Given the description of an element on the screen output the (x, y) to click on. 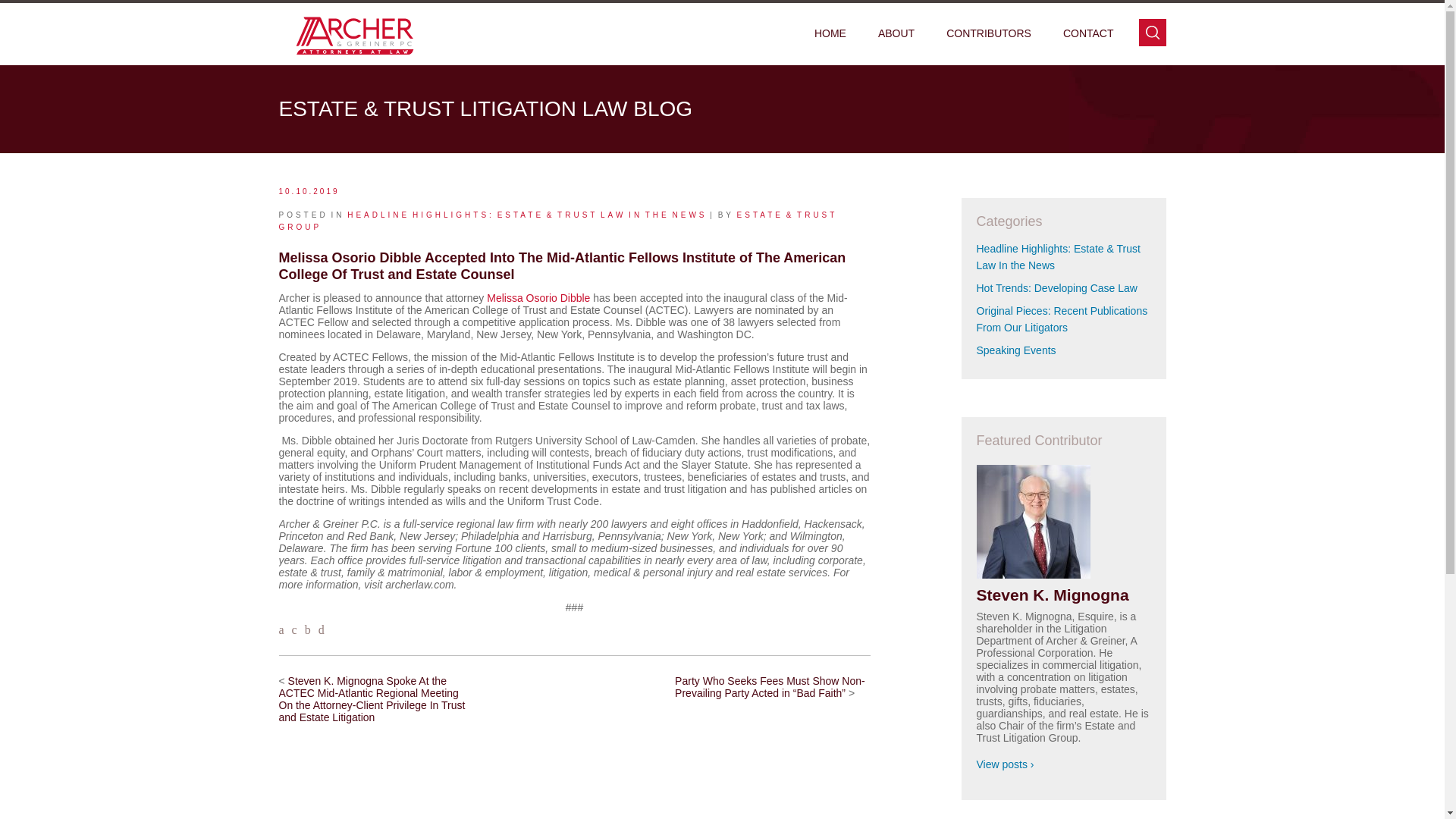
HOME (829, 34)
Original Pieces: Recent Publications From Our Litigators (1062, 318)
search (1152, 31)
Hot Trends: Developing Case Law (1056, 287)
CONTACT (1087, 34)
CONTRIBUTORS (988, 34)
Speaking Events (1016, 349)
Melissa Osorio Dibble (537, 297)
ABOUT (895, 34)
